Given the description of an element on the screen output the (x, y) to click on. 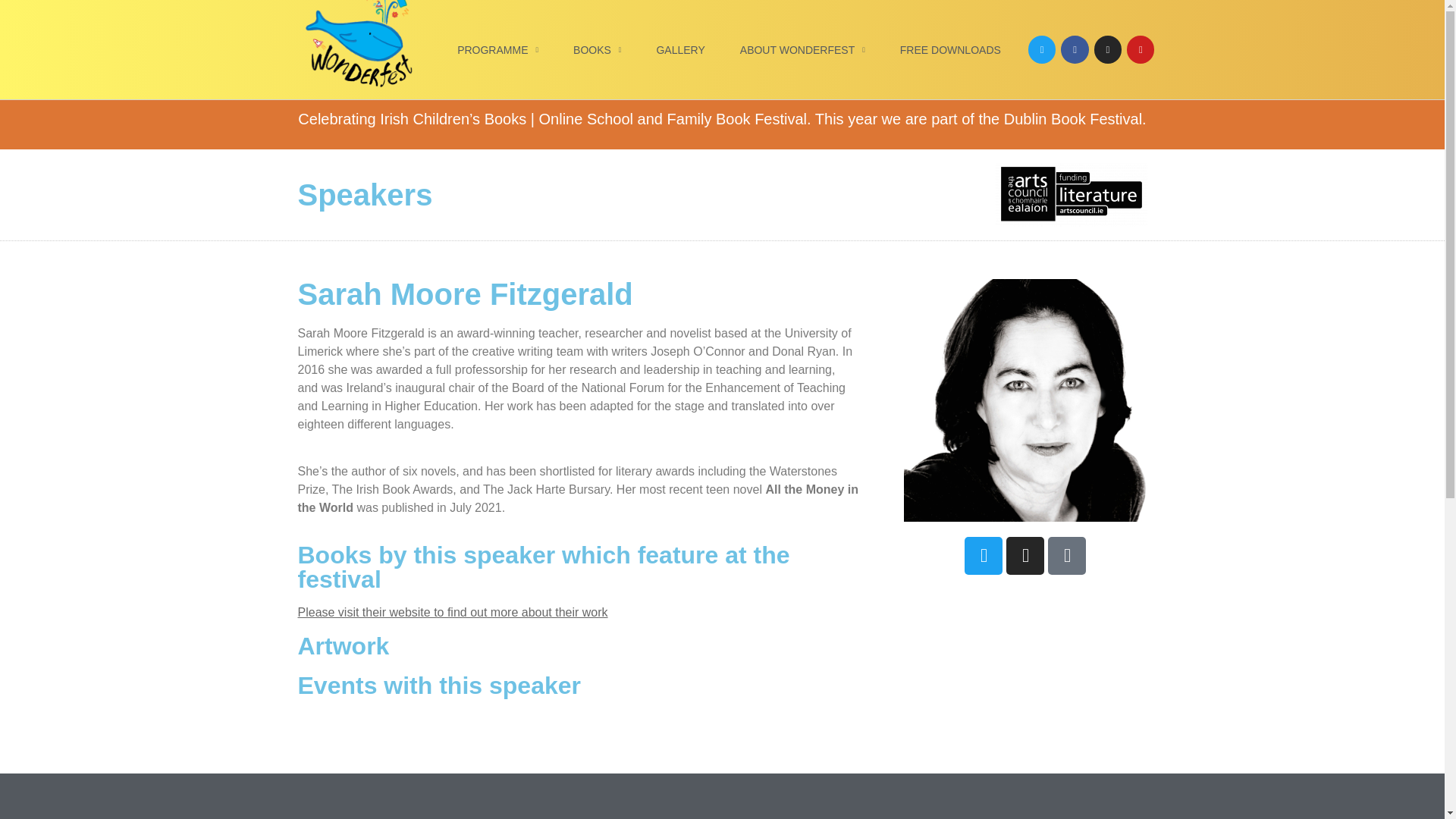
ABOUT WONDERFEST (802, 49)
FREE DOWNLOADS (950, 49)
PROGRAMME (497, 49)
GALLERY (679, 49)
BOOKS (596, 49)
